Given the description of an element on the screen output the (x, y) to click on. 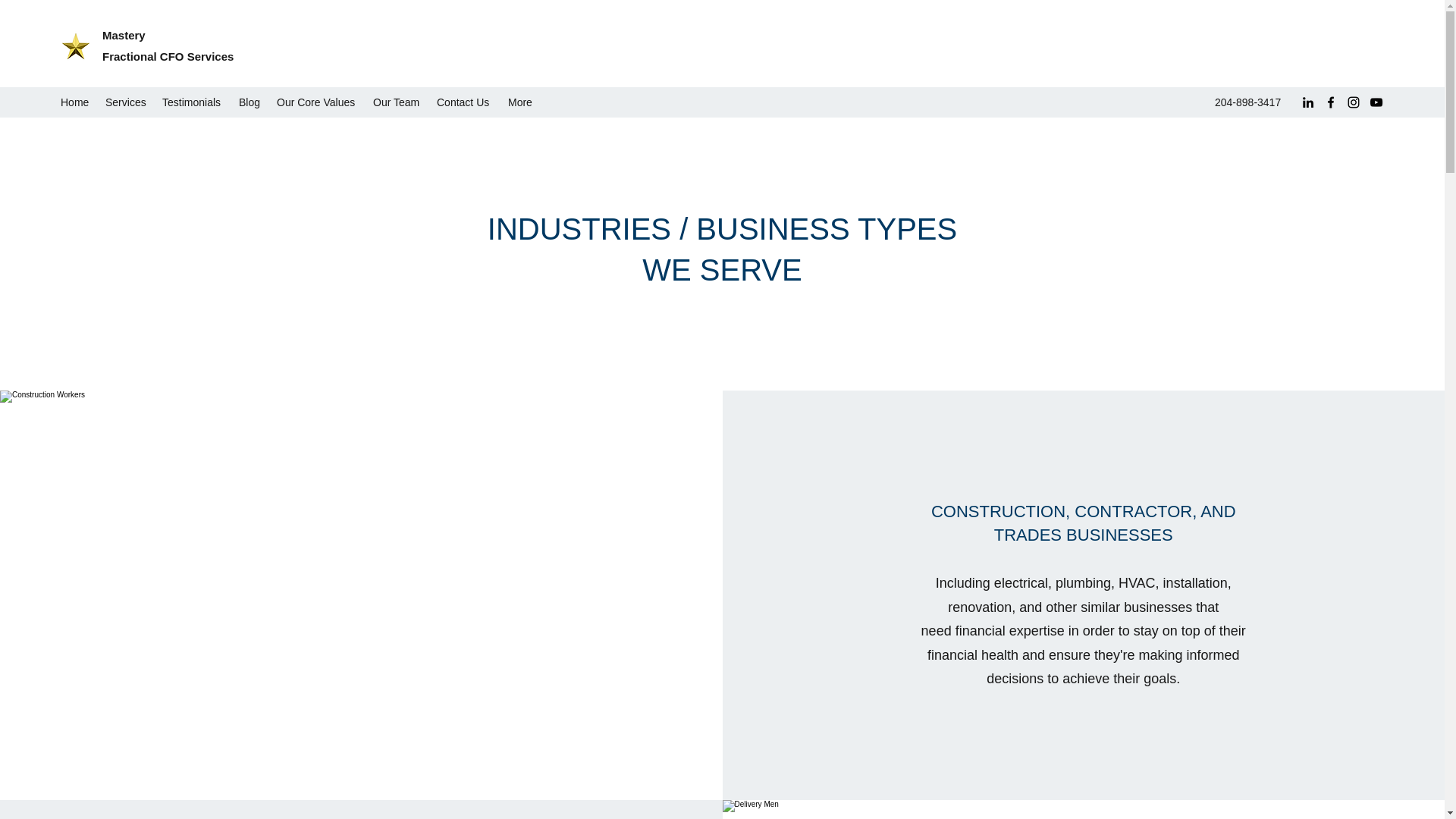
Our Core Values (317, 101)
Our Team (397, 101)
Blog (250, 101)
Testimonials (192, 101)
Services (125, 101)
Contact Us (464, 101)
Home (74, 101)
